Given the description of an element on the screen output the (x, y) to click on. 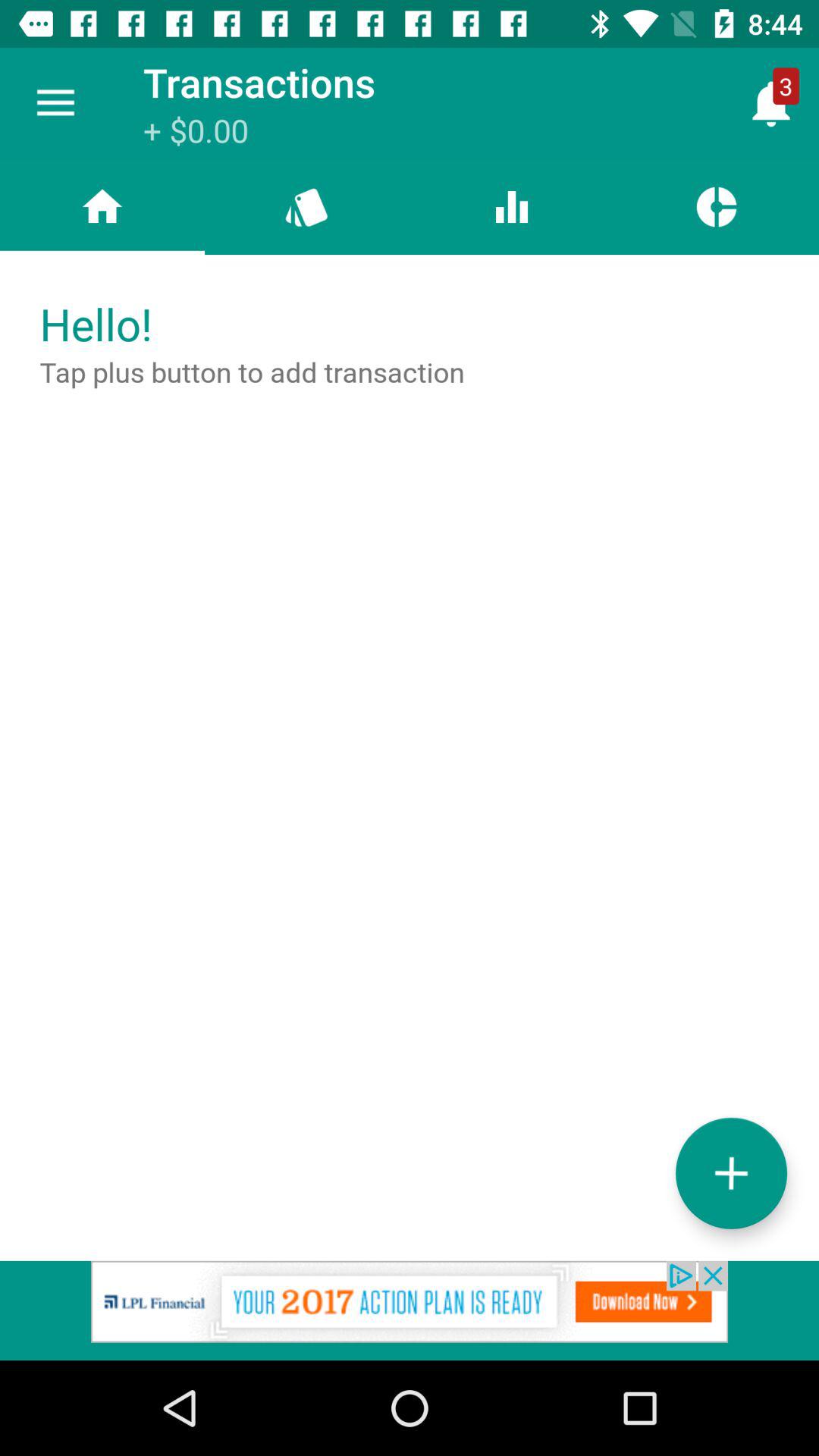
add transaction (731, 1173)
